Given the description of an element on the screen output the (x, y) to click on. 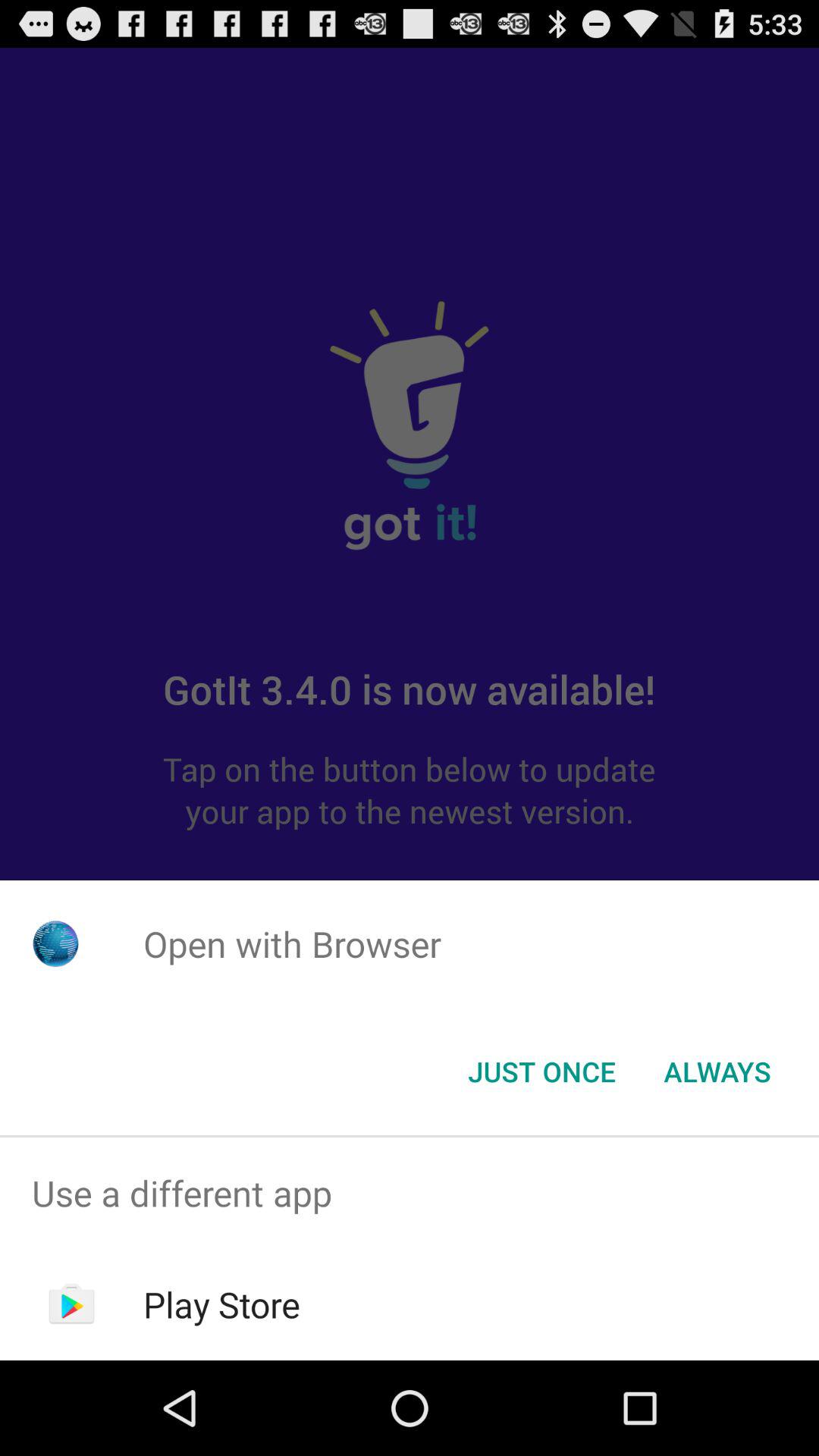
choose icon next to the always icon (541, 1071)
